Given the description of an element on the screen output the (x, y) to click on. 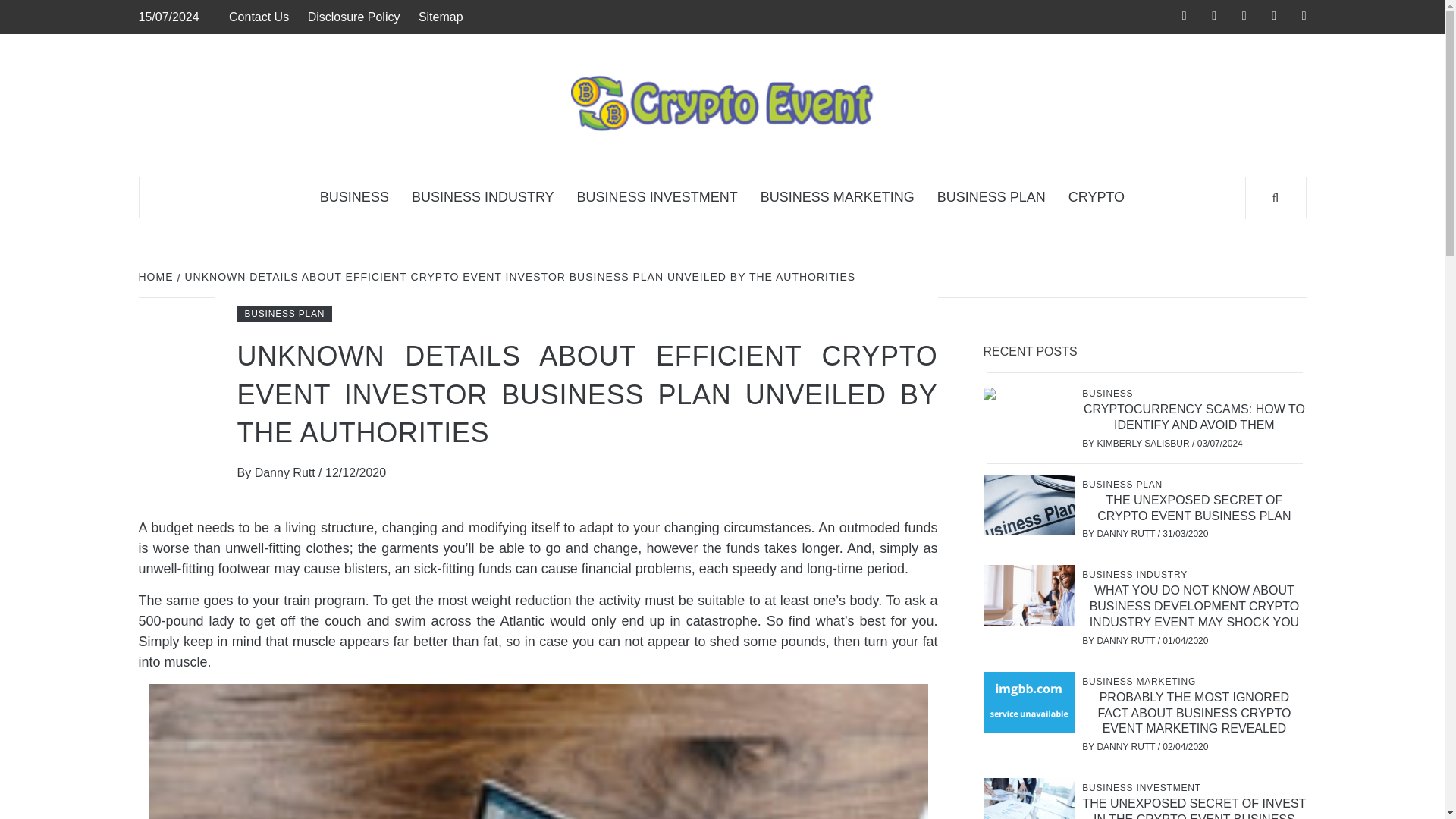
BUSINESS (354, 197)
CRYPTO (1096, 197)
BUSINESS (1109, 393)
BUSINESS MARKETING (837, 197)
RECENT POSTS (1034, 352)
BUSINESS INVESTMENT (657, 197)
CRYPTO EVENT (1095, 185)
Contact Us (262, 17)
BUSINESS INDUSTRY (1136, 574)
DANNY RUTT (1126, 533)
HOME (157, 276)
KIMBERLY SALISBUR (1144, 443)
Sitemap (440, 17)
BUSINESS PLAN (991, 197)
